Given the description of an element on the screen output the (x, y) to click on. 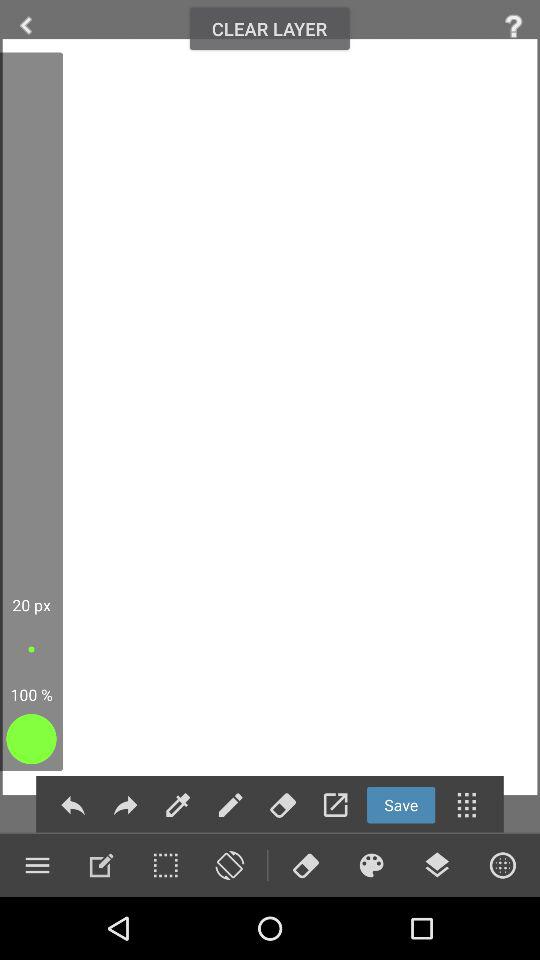
browers option (502, 865)
